Given the description of an element on the screen output the (x, y) to click on. 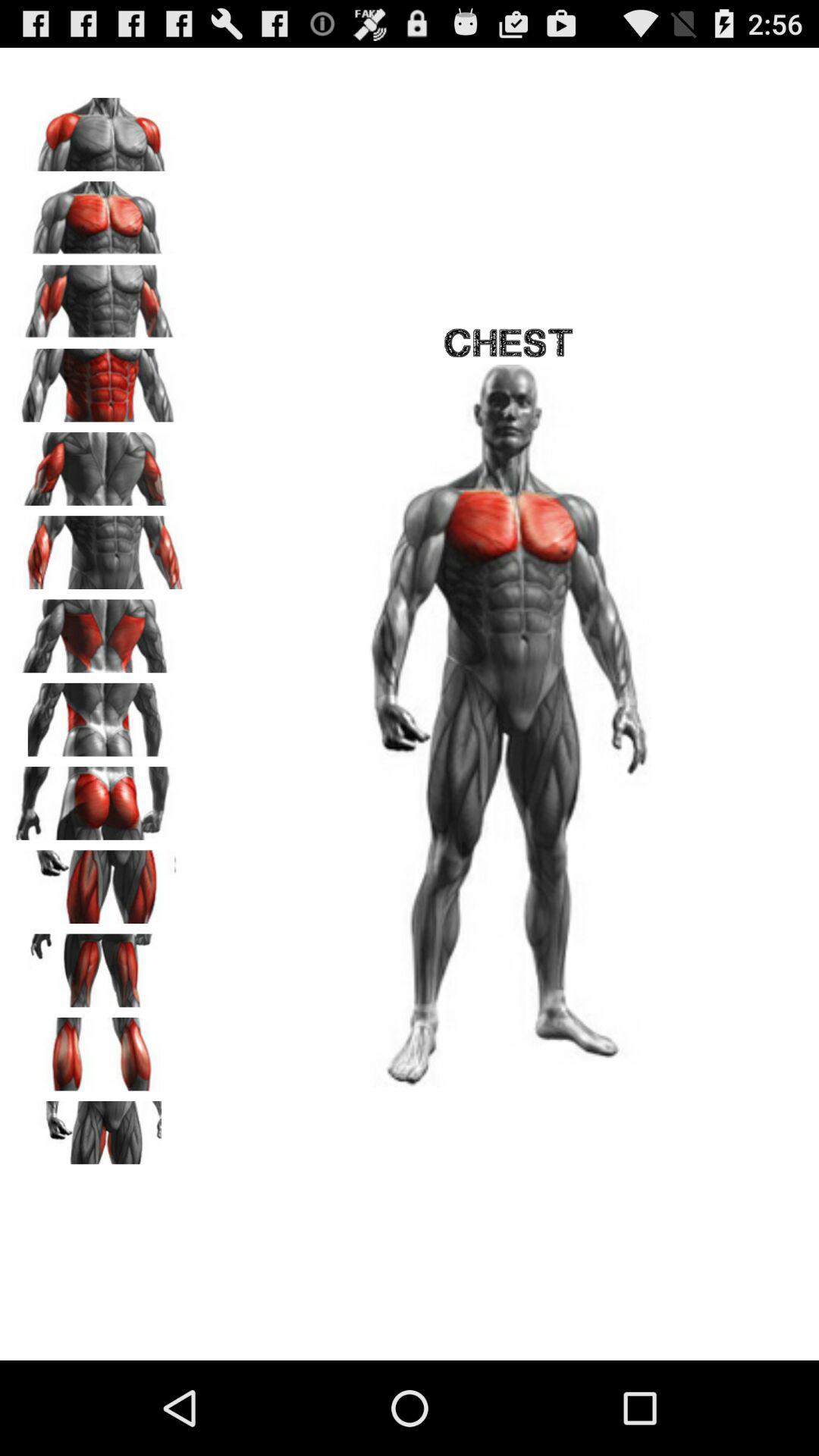
open stomach option (99, 380)
